Given the description of an element on the screen output the (x, y) to click on. 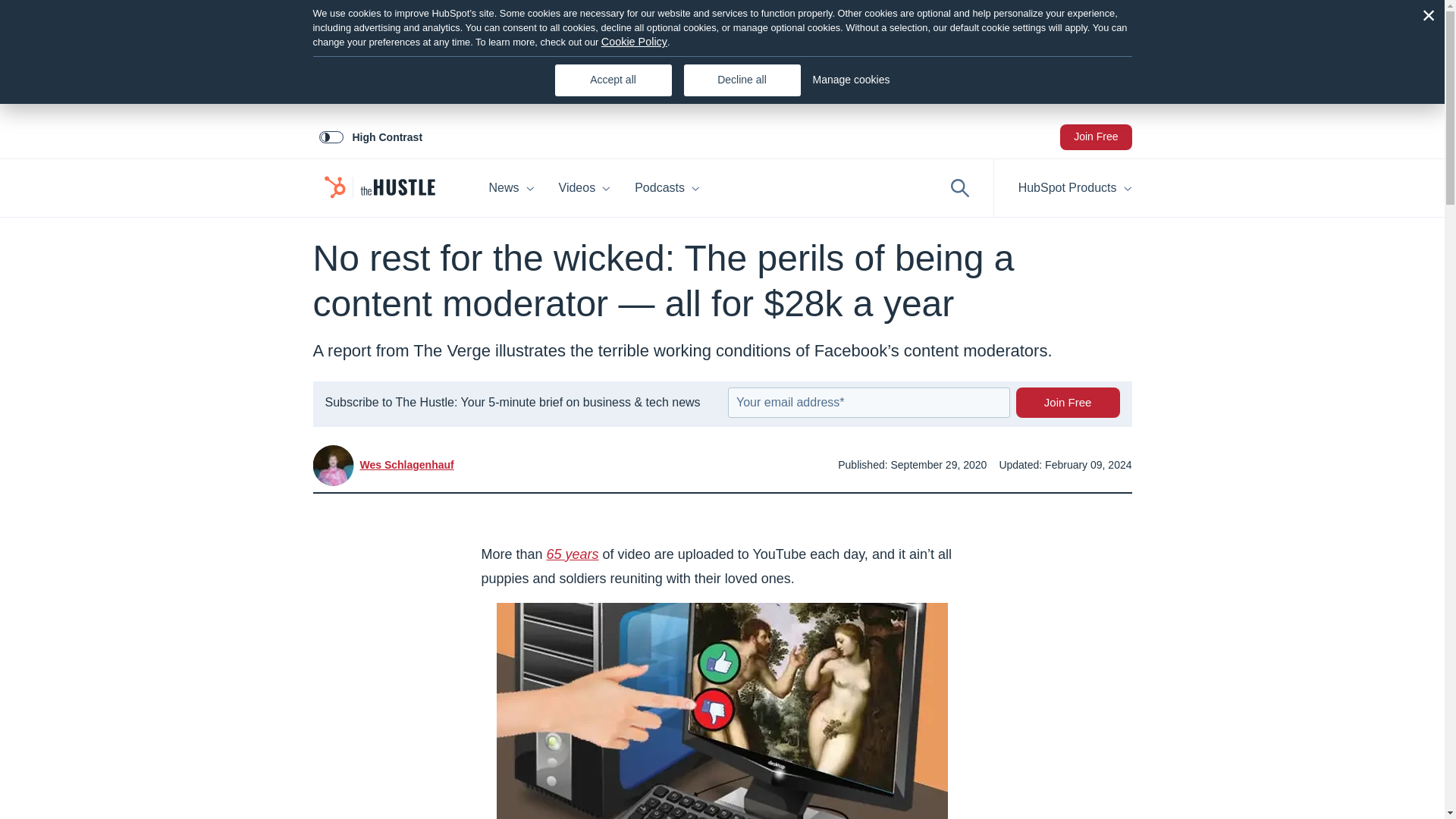
Join Free (1067, 402)
News (511, 187)
Podcasts (738, 187)
Join Free (1095, 136)
High Contrast (370, 137)
Videos (585, 187)
